Given the description of an element on the screen output the (x, y) to click on. 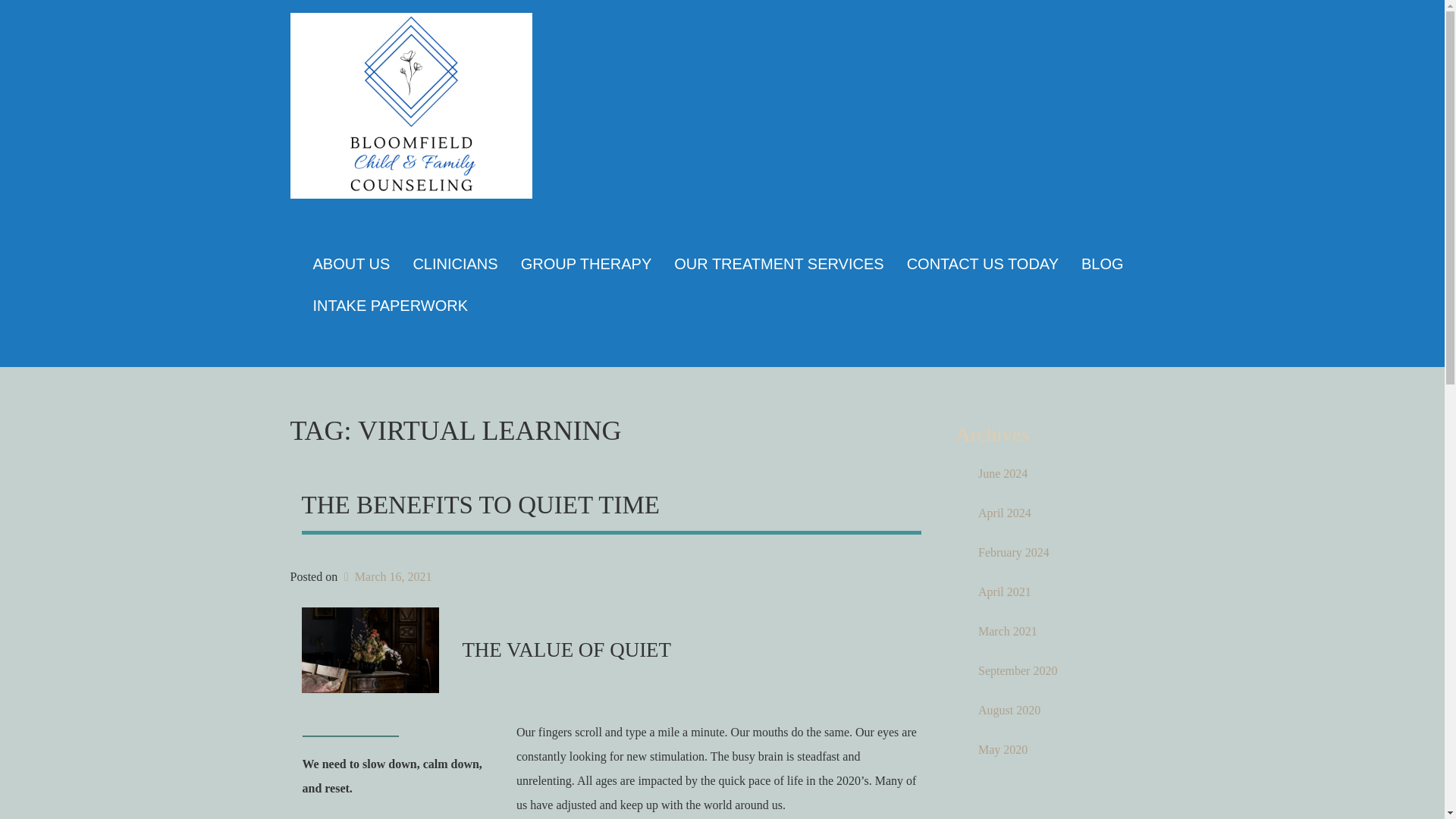
March 16, 2021 (385, 576)
April 2024 (1060, 513)
CONTACT US TODAY (982, 263)
BLOG (1102, 263)
September 2020 (1060, 671)
August 2020 (1060, 710)
GROUP THERAPY (586, 263)
THE BENEFITS TO QUIET TIME (480, 504)
February 2024 (1060, 552)
ABOUT US (351, 263)
CLINICIANS (454, 263)
INTAKE PAPERWORK (390, 305)
March 2021 (1060, 631)
OUR TREATMENT SERVICES (778, 263)
May 2020 (1060, 749)
